Given the description of an element on the screen output the (x, y) to click on. 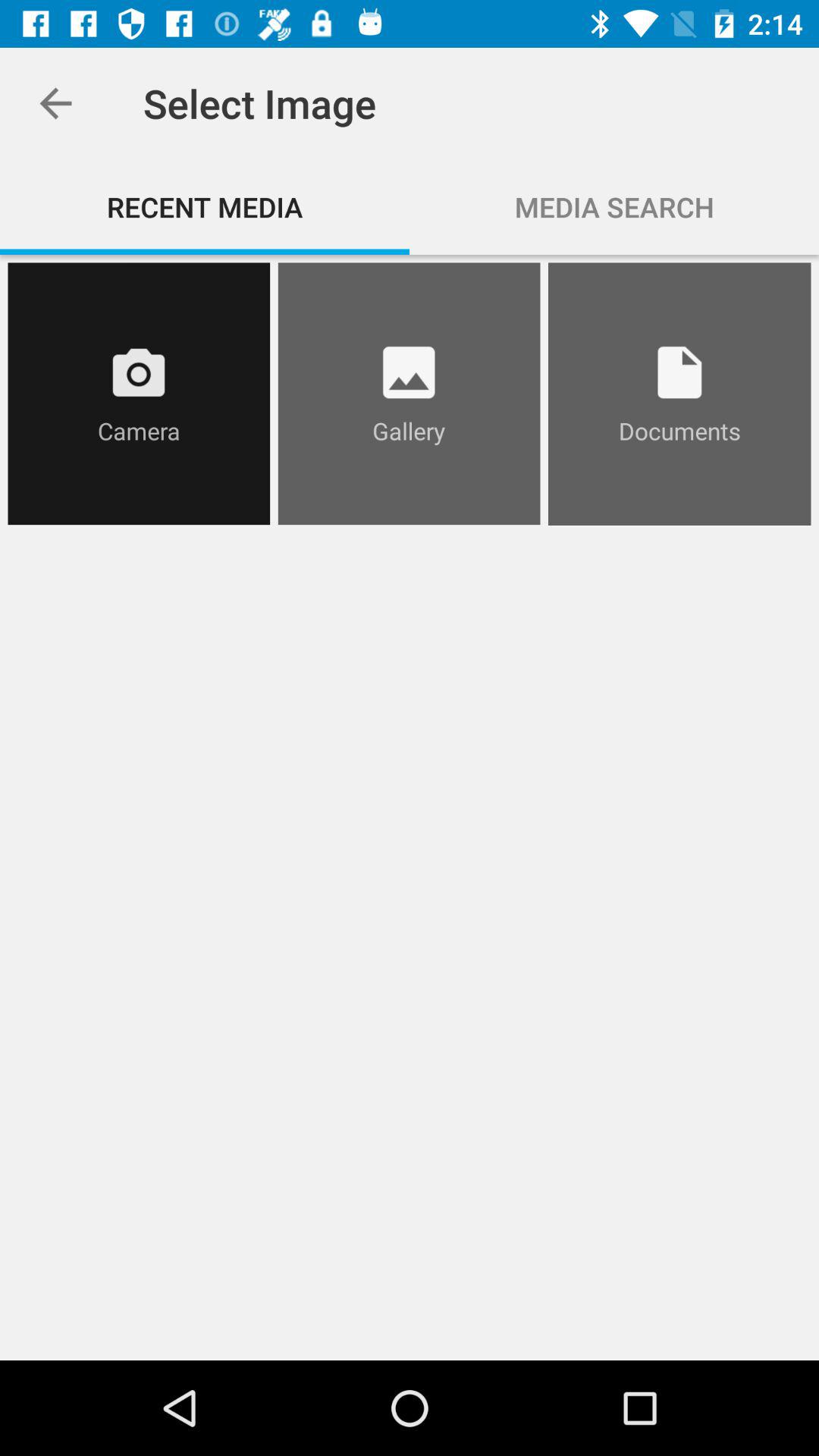
launch the item to the right of recent media (614, 206)
